Given the description of an element on the screen output the (x, y) to click on. 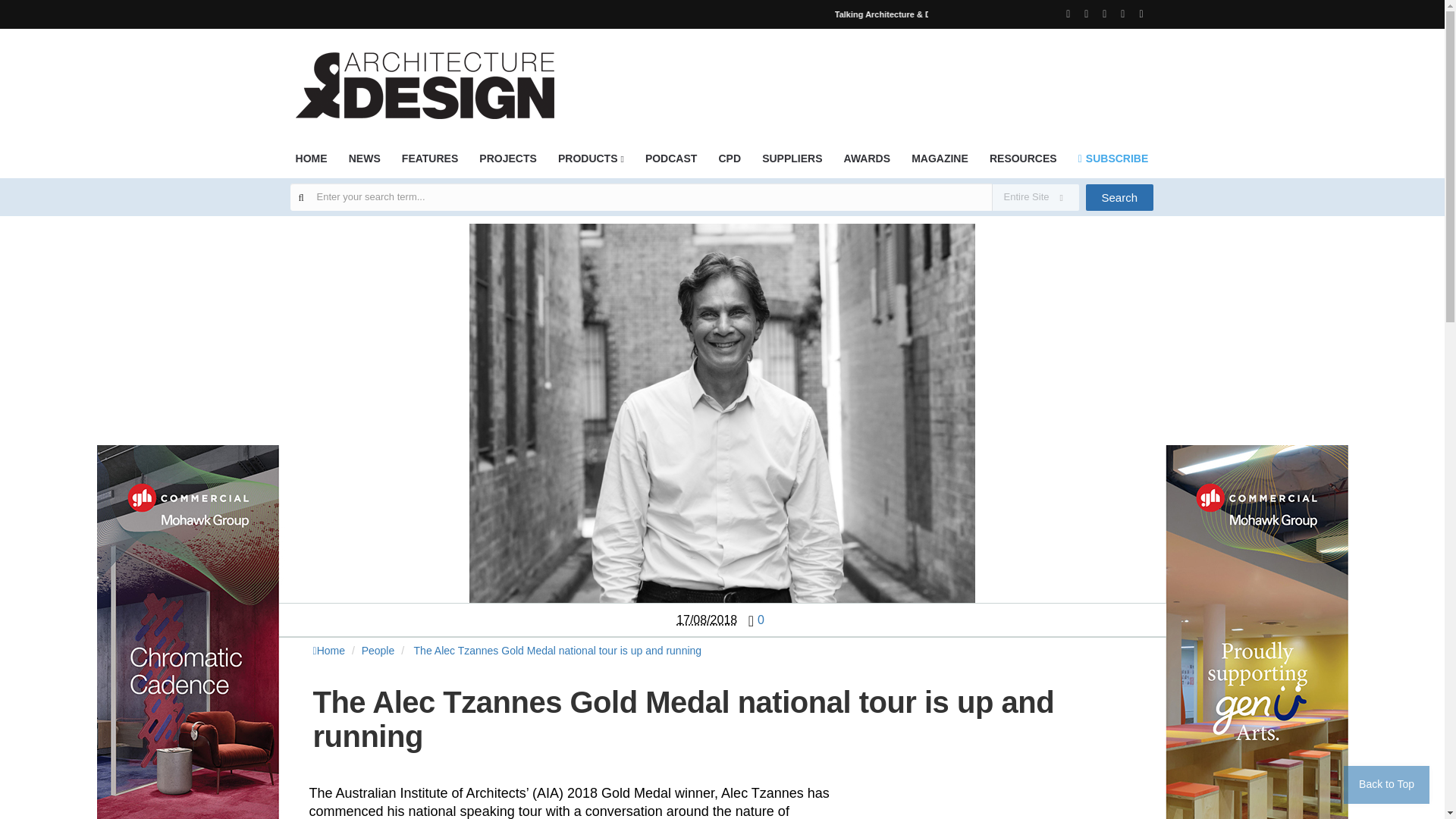
PROJECTS (507, 163)
HOME (311, 163)
FEATURES (429, 163)
3rd party ad content (1011, 809)
PRODUCTS (590, 163)
NEWS (364, 163)
3rd party ad content (876, 75)
2018-08-16T23:59:43Z (706, 619)
